Given the description of an element on the screen output the (x, y) to click on. 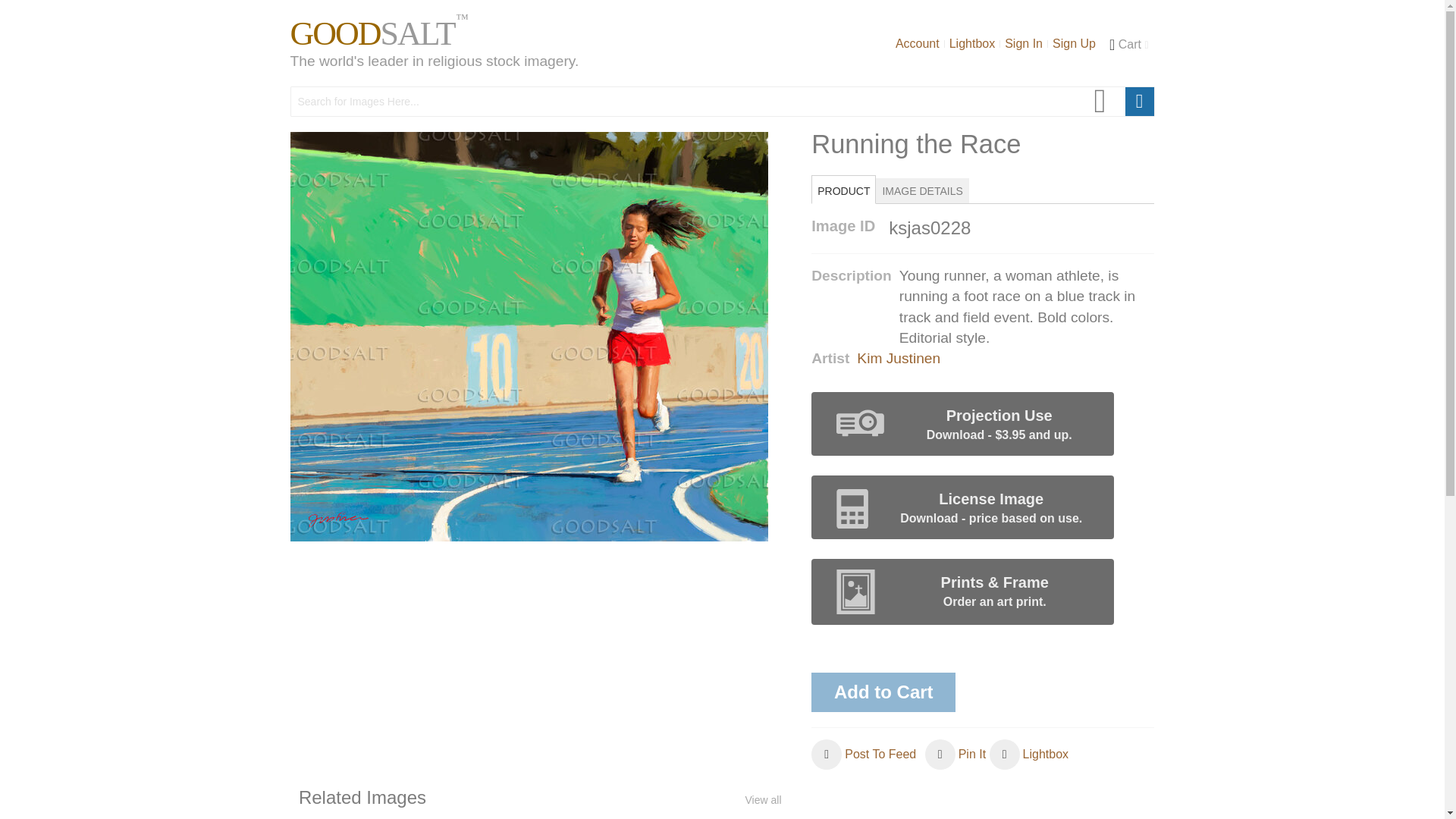
Add to Cart (882, 691)
Lightbox (1029, 754)
Sign Up (1073, 43)
Kim Justinen (898, 358)
Search (1139, 101)
PRODUCT (843, 189)
Lightbox (972, 43)
IMAGE DETAILS (922, 190)
Account (916, 43)
Sign In (1023, 43)
